Given the description of an element on the screen output the (x, y) to click on. 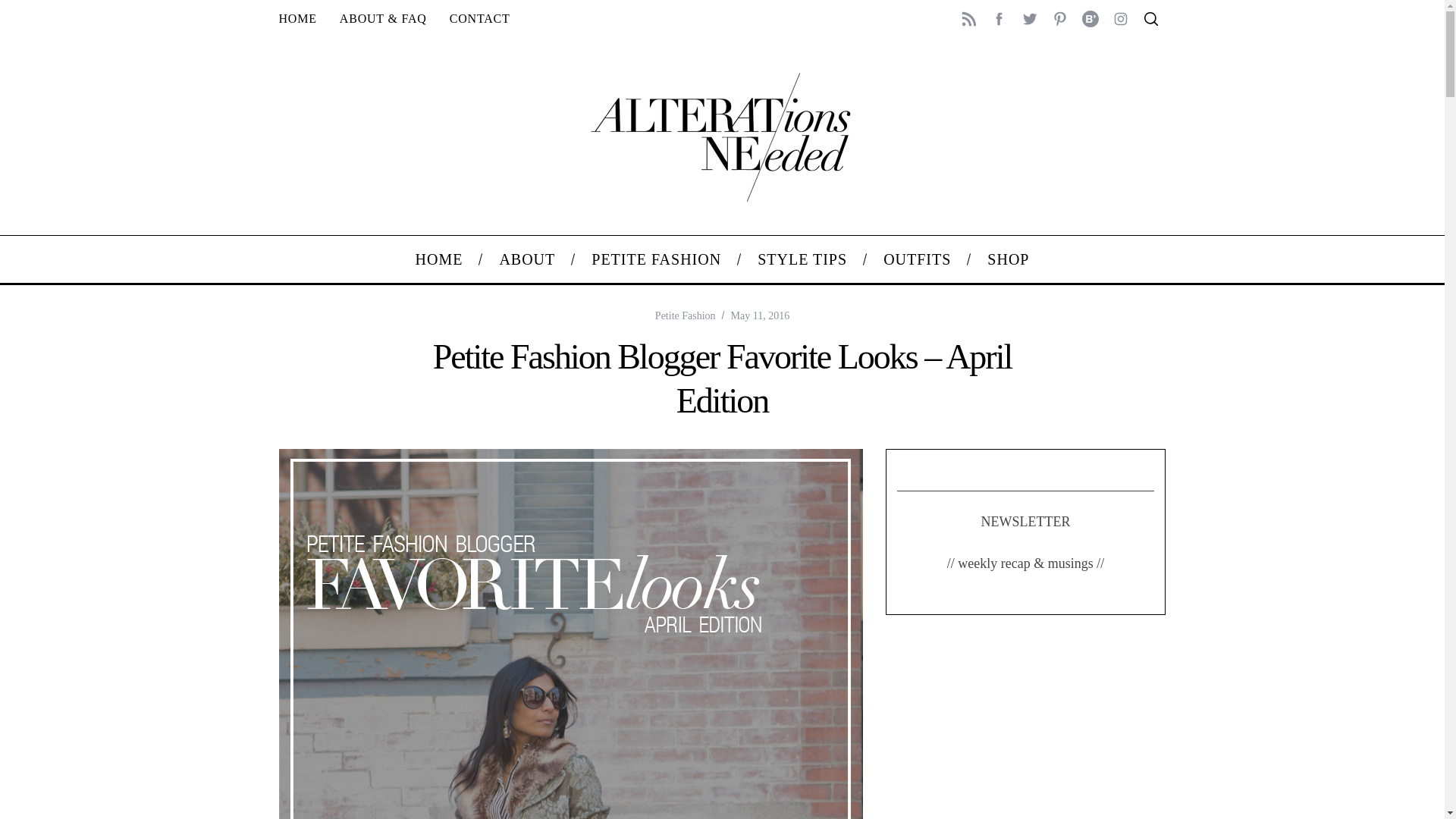
HOME (296, 18)
SHOP (1007, 258)
PETITE FASHION (656, 258)
CONTACT (479, 18)
OUTFITS (916, 258)
STYLE TIPS (801, 258)
